Given the description of an element on the screen output the (x, y) to click on. 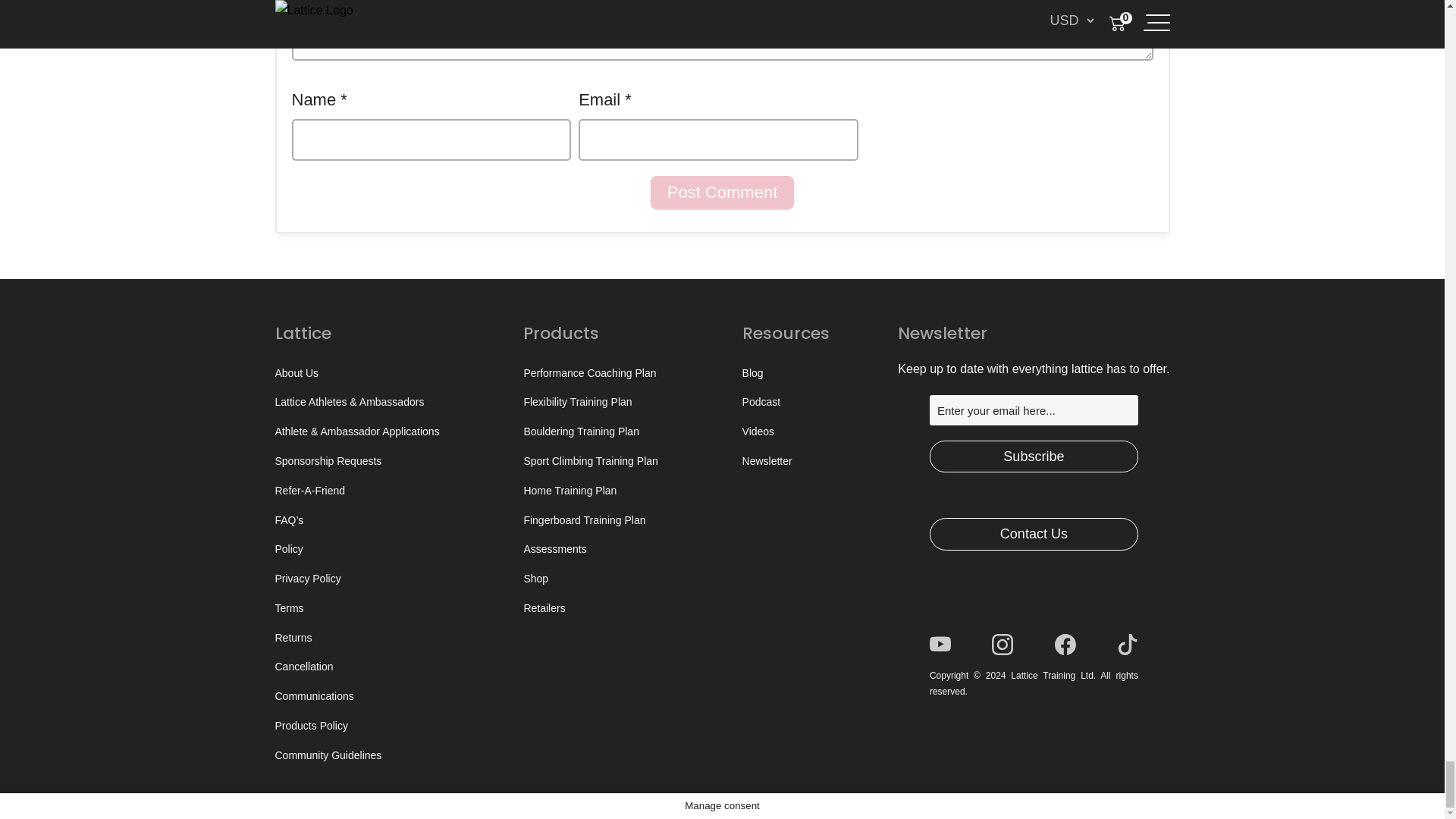
Post Comment (722, 192)
Subscribe (1034, 456)
